Given the description of an element on the screen output the (x, y) to click on. 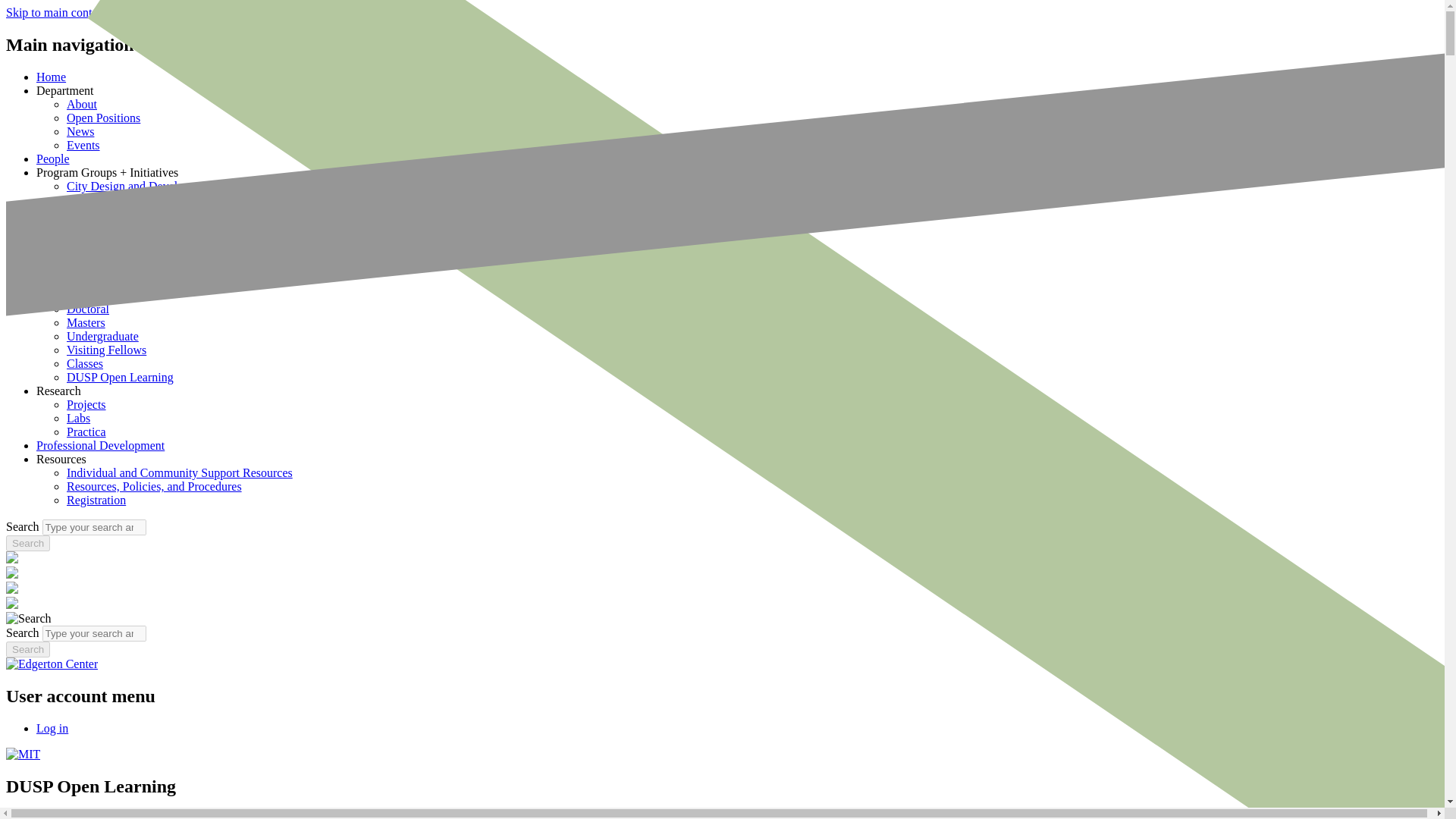
Visiting Fellows (106, 349)
About (81, 103)
Home (50, 76)
DUSP Open Learning (119, 377)
International Development (131, 226)
Registration (95, 499)
News (80, 131)
Practica (86, 431)
Classes (84, 363)
Projects (86, 404)
Skip to main content (55, 11)
Urban Science (102, 254)
Enter the terms you wish to search for. (94, 633)
Search (27, 543)
Labs (78, 418)
